Given the description of an element on the screen output the (x, y) to click on. 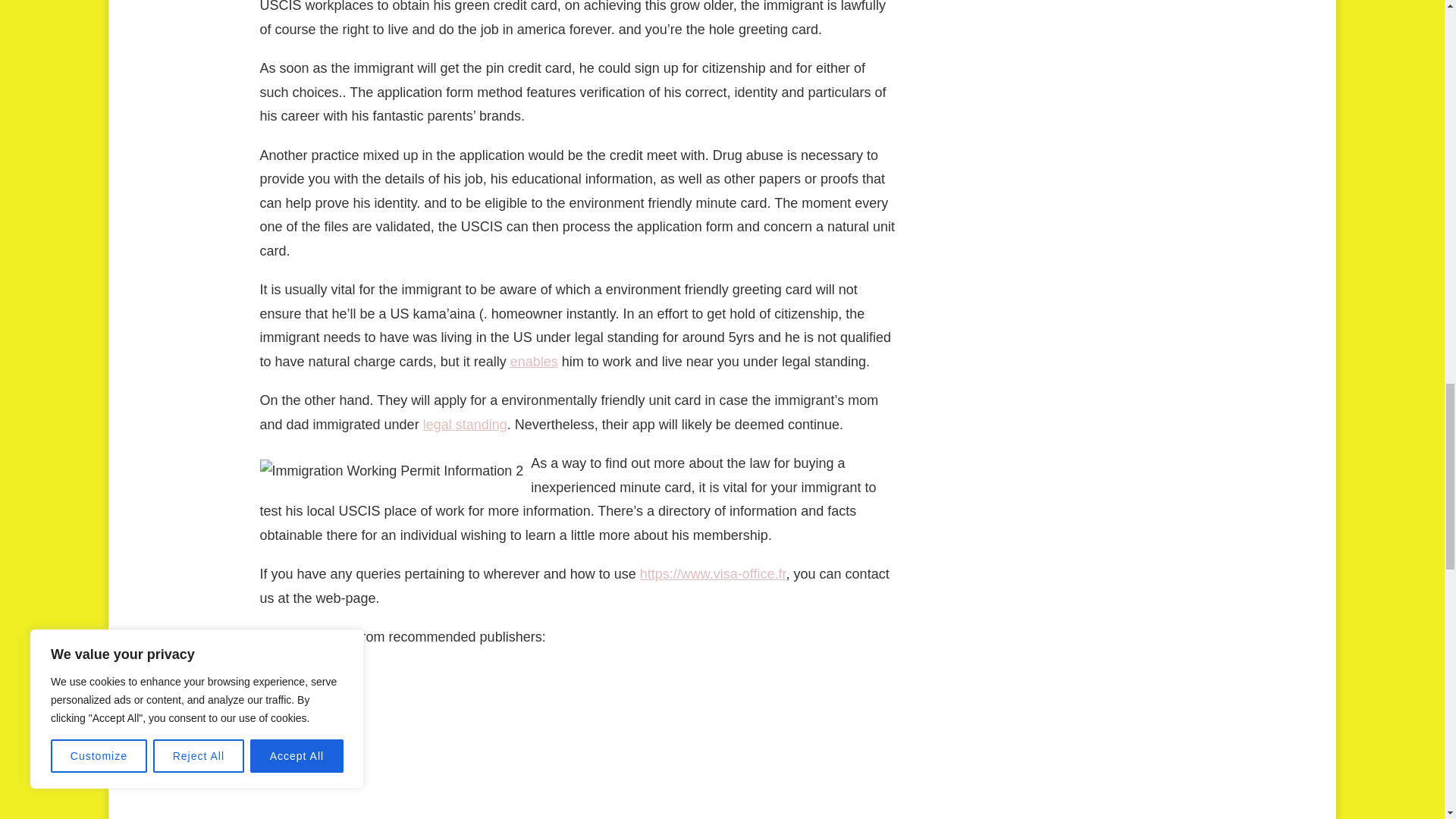
Similar website (304, 676)
INFORMATION (306, 762)
the full report (299, 714)
enables (534, 361)
legal standing (464, 424)
